Given the description of an element on the screen output the (x, y) to click on. 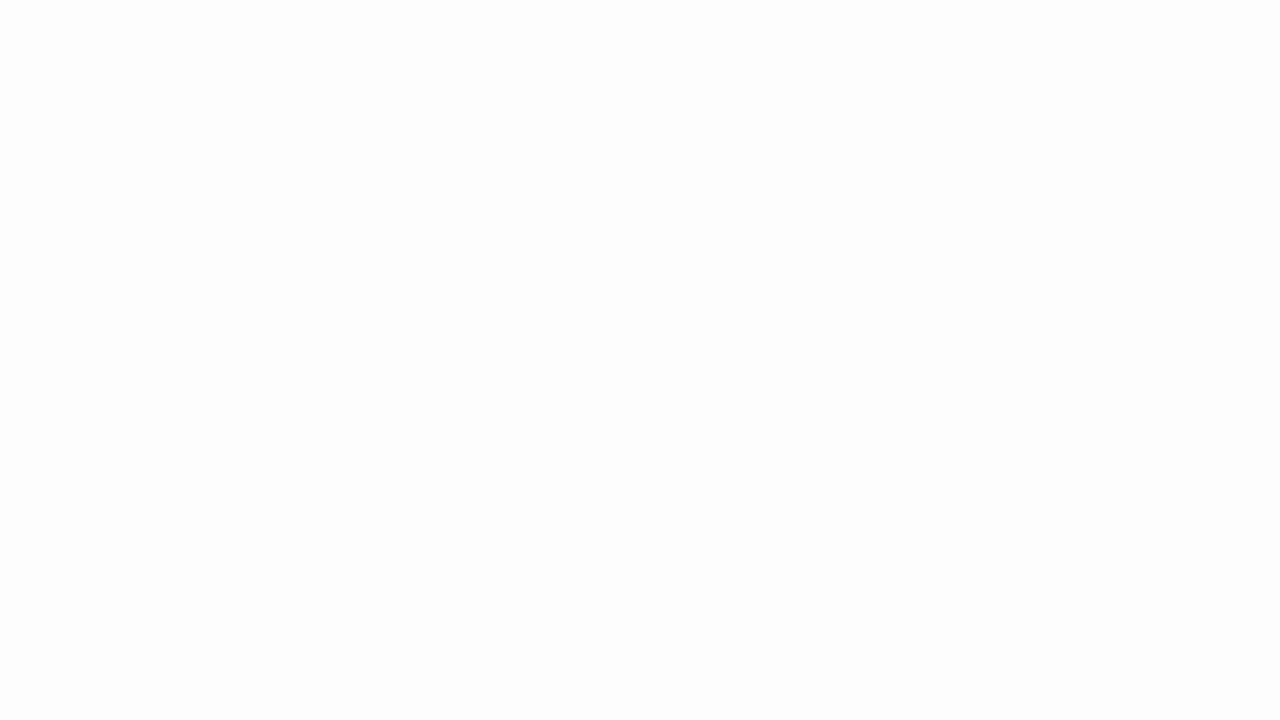
Paste (28, 102)
Cut (73, 78)
Underline (232, 119)
Font Size (358, 87)
Show Phonetic Field (416, 119)
Bad (1180, 86)
Center (485, 119)
Check Cell (1074, 114)
Decrease Decimal (859, 119)
Comma Style (804, 119)
Percent Style (781, 119)
Merge & Center (641, 119)
